Given the description of an element on the screen output the (x, y) to click on. 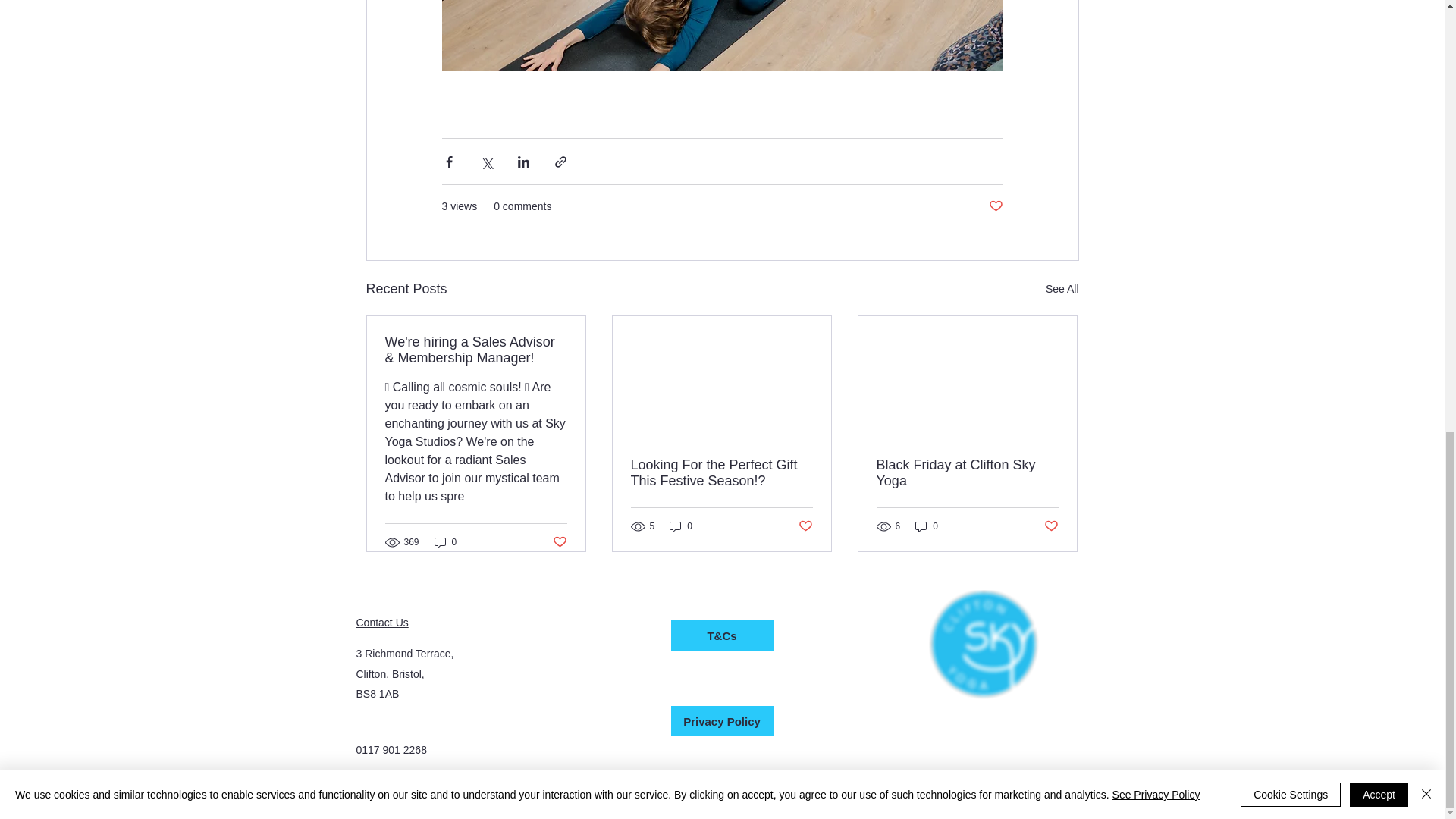
0 (445, 542)
Post not marked as liked (804, 526)
Post not marked as liked (995, 206)
Contact Us (382, 622)
Looking For the Perfect Gift This Festive Season!? (721, 472)
0 (926, 526)
0 (681, 526)
Post not marked as liked (1050, 526)
Black Friday at Clifton Sky Yoga (967, 472)
See All (1061, 289)
0117 901 2268 (391, 749)
Post not marked as liked (558, 542)
Privacy Policy (721, 720)
